Given the description of an element on the screen output the (x, y) to click on. 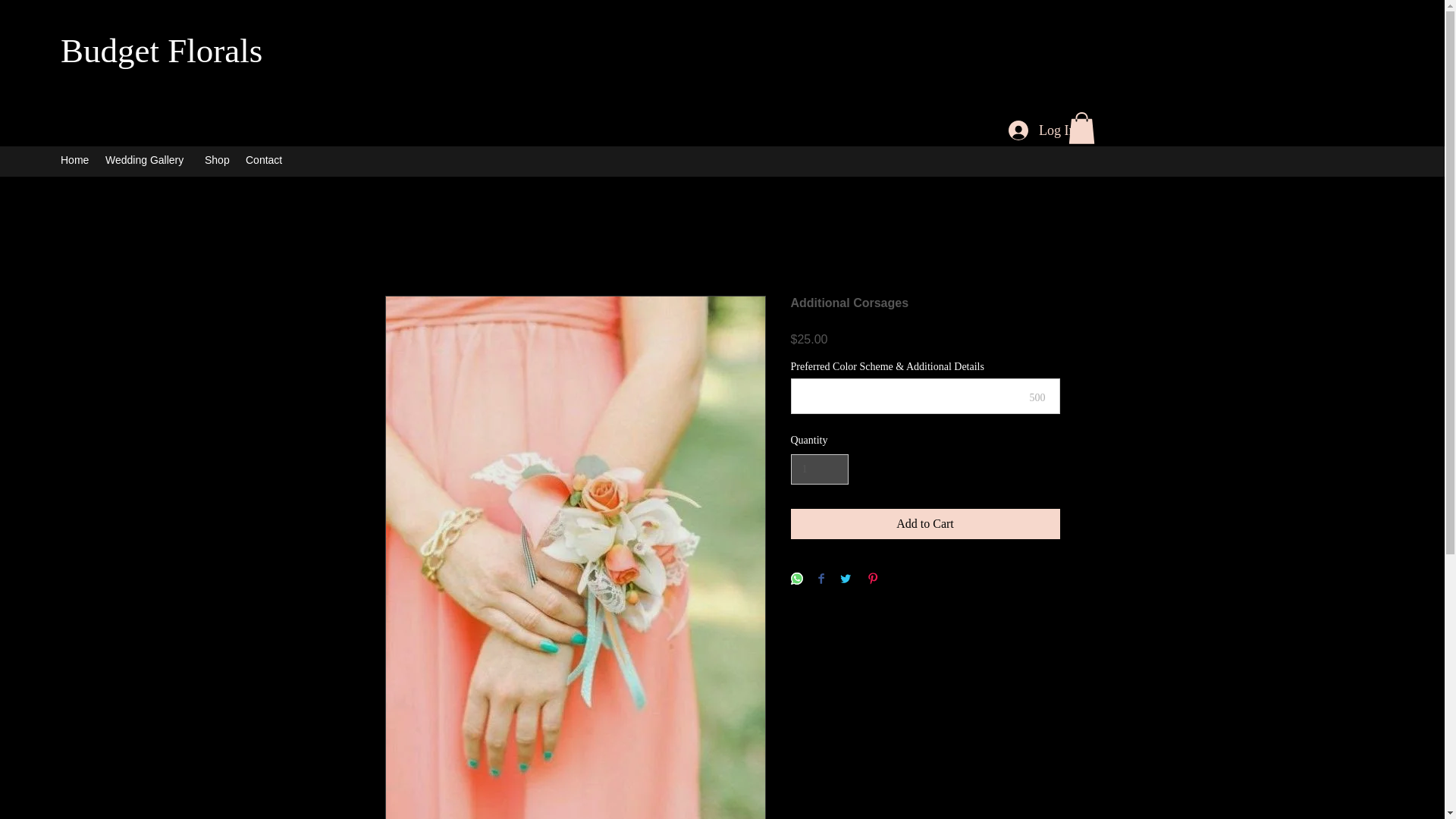
Shop (217, 159)
1 (818, 469)
Log In (1041, 131)
Add to Cart (924, 523)
Contact (265, 159)
Home (74, 159)
Wedding Gallery (146, 159)
